Given the description of an element on the screen output the (x, y) to click on. 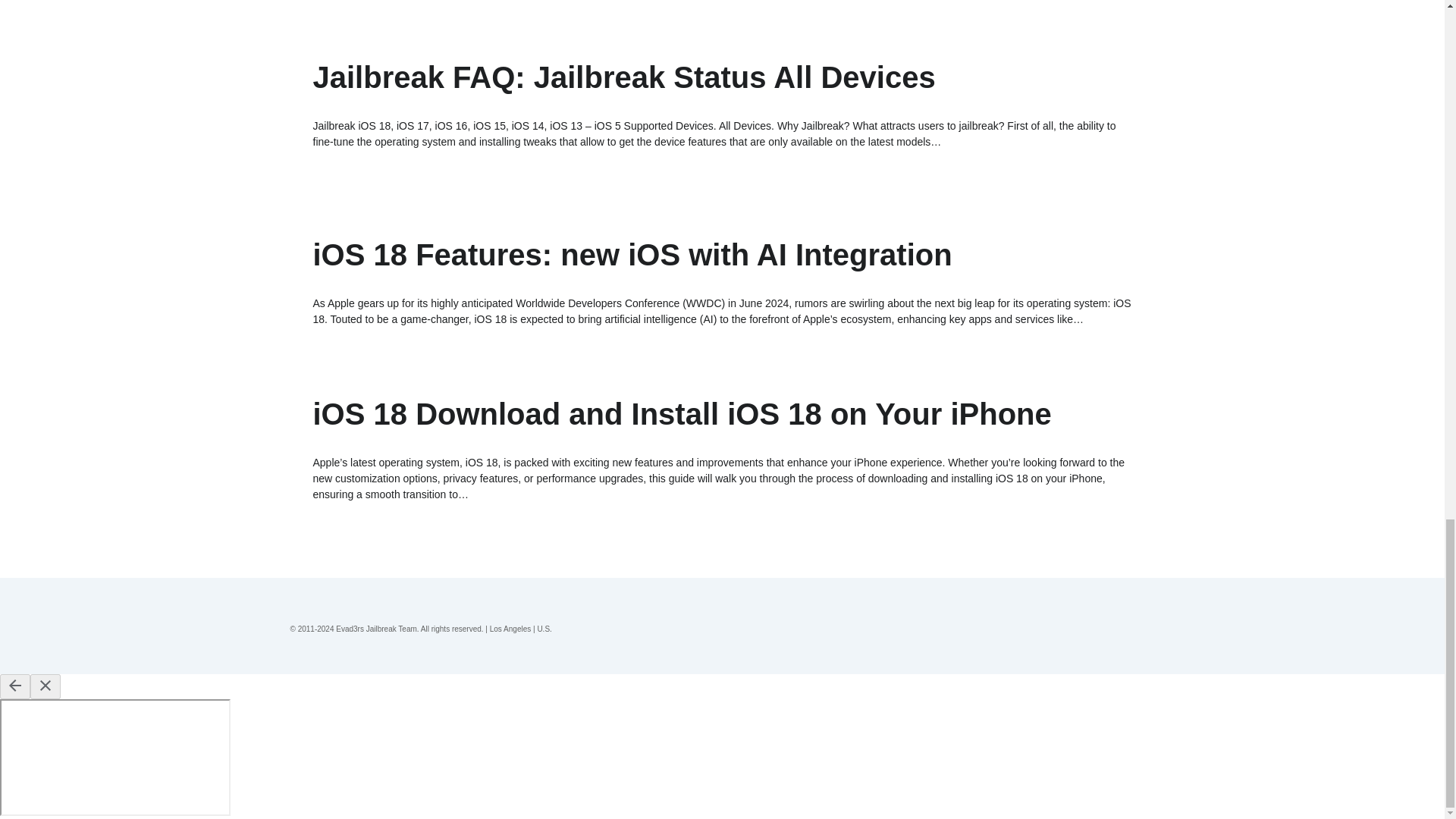
Jailbreak FAQ: Jailbreak Status All Devices (623, 76)
iOS 18 Download and Install iOS 18 on Your iPhone (682, 413)
iOS 18 Features: new iOS with AI Integration (632, 254)
